Given the description of an element on the screen output the (x, y) to click on. 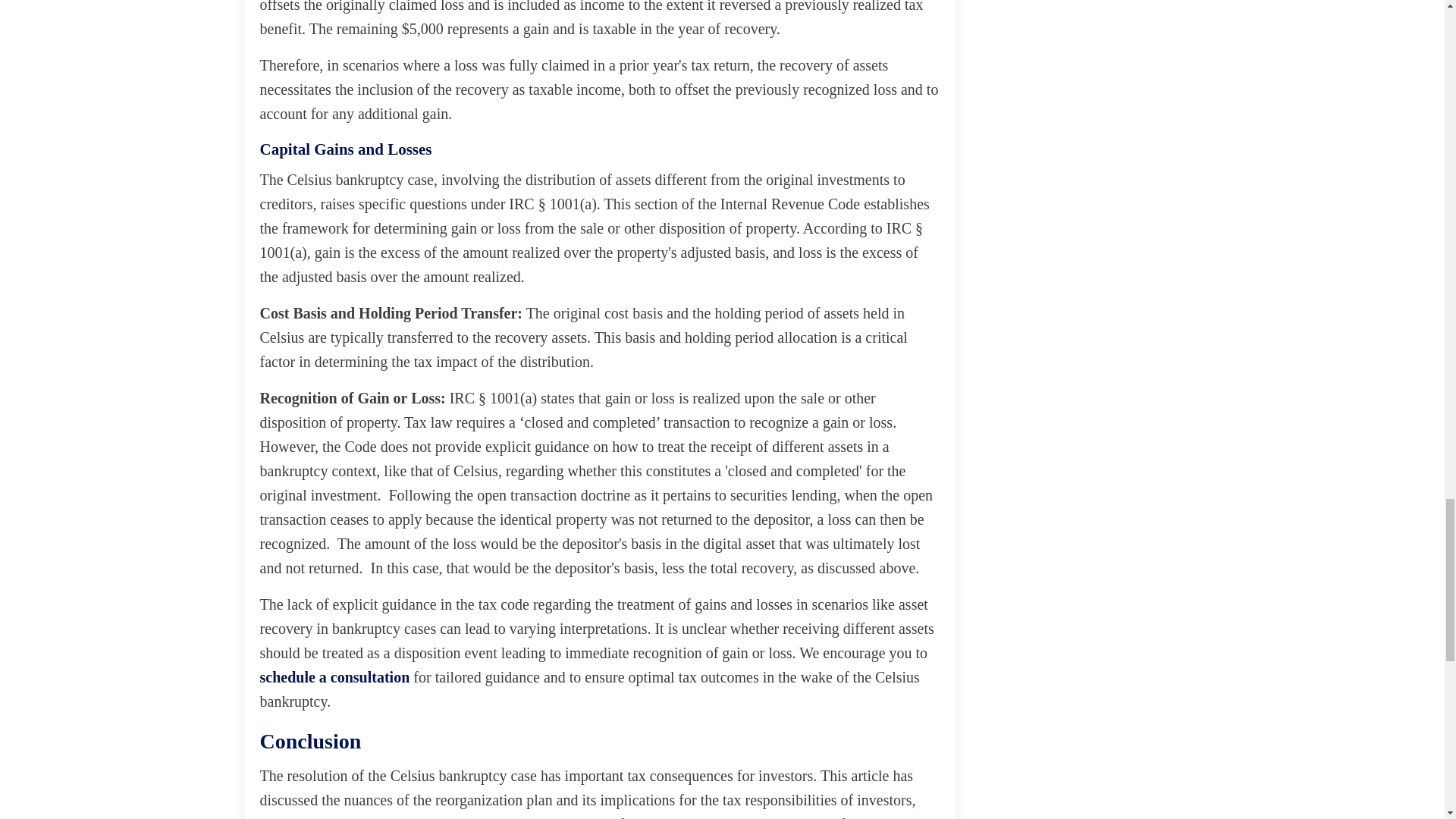
schedule a consultation (334, 677)
Schedule Your Crypto Tax Consultation  (334, 677)
